Given the description of an element on the screen output the (x, y) to click on. 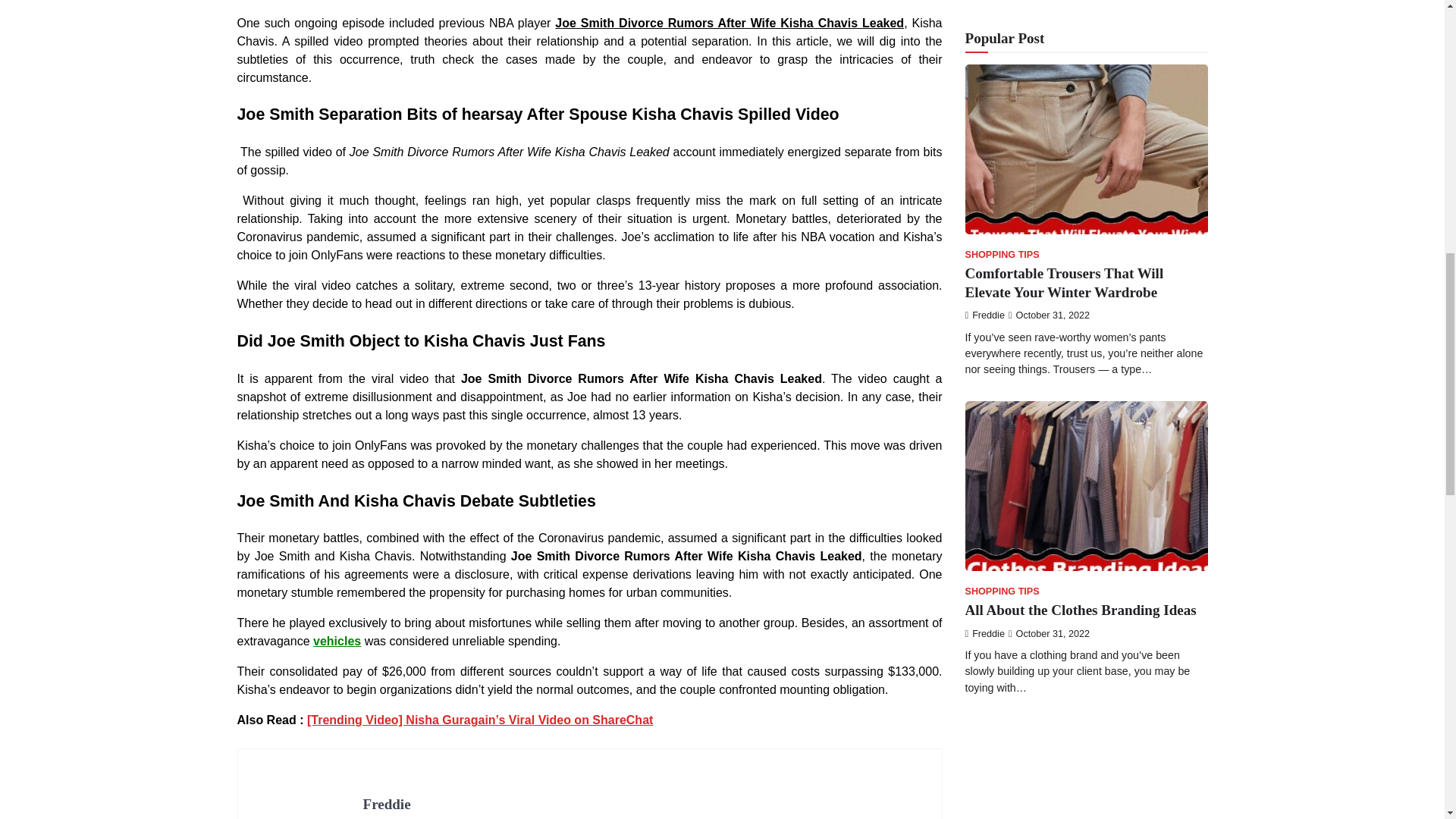
vehicles (337, 640)
